Given the description of an element on the screen output the (x, y) to click on. 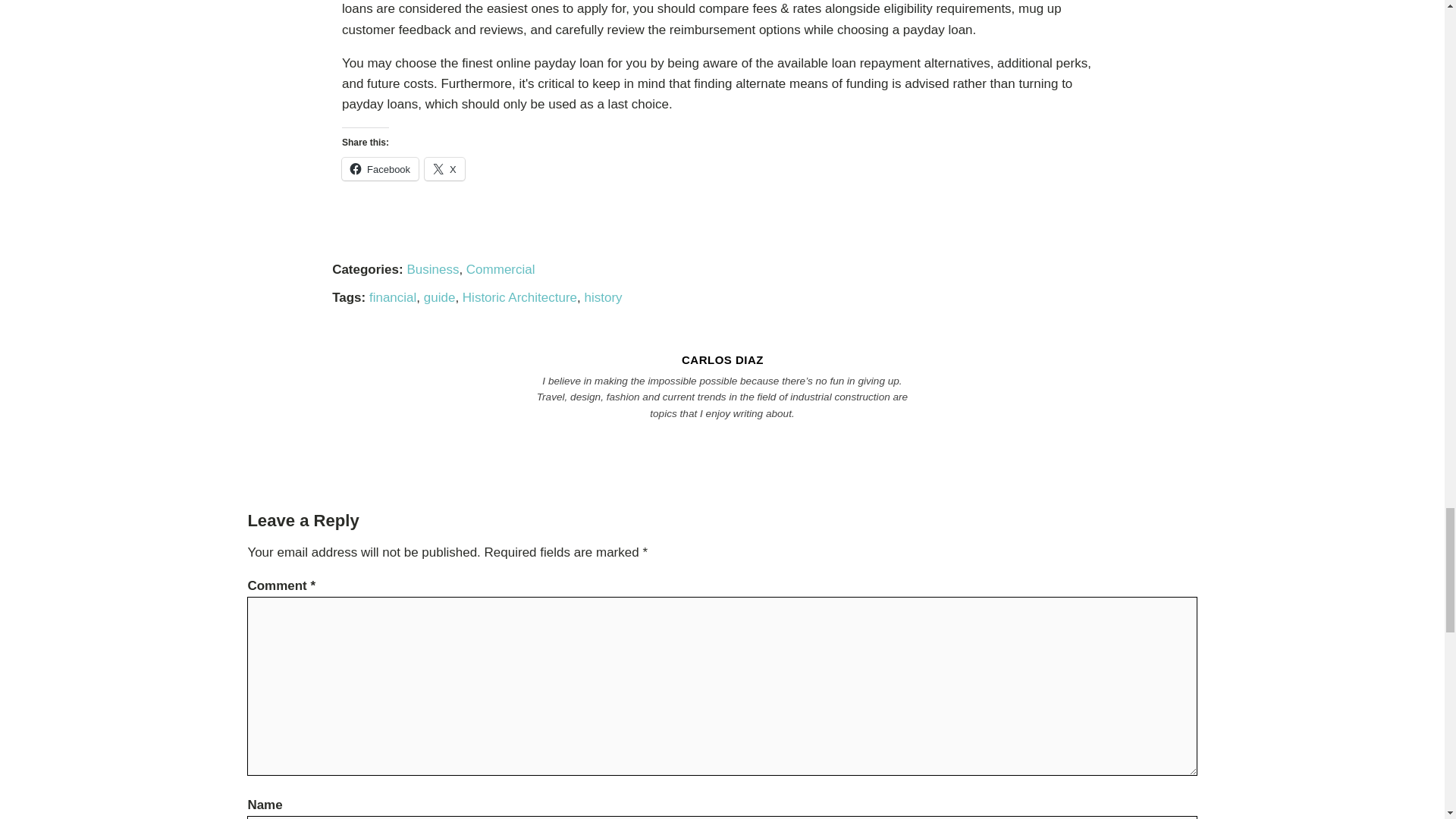
Click to share on X (444, 169)
Click to share on Facebook (380, 169)
